Given the description of an element on the screen output the (x, y) to click on. 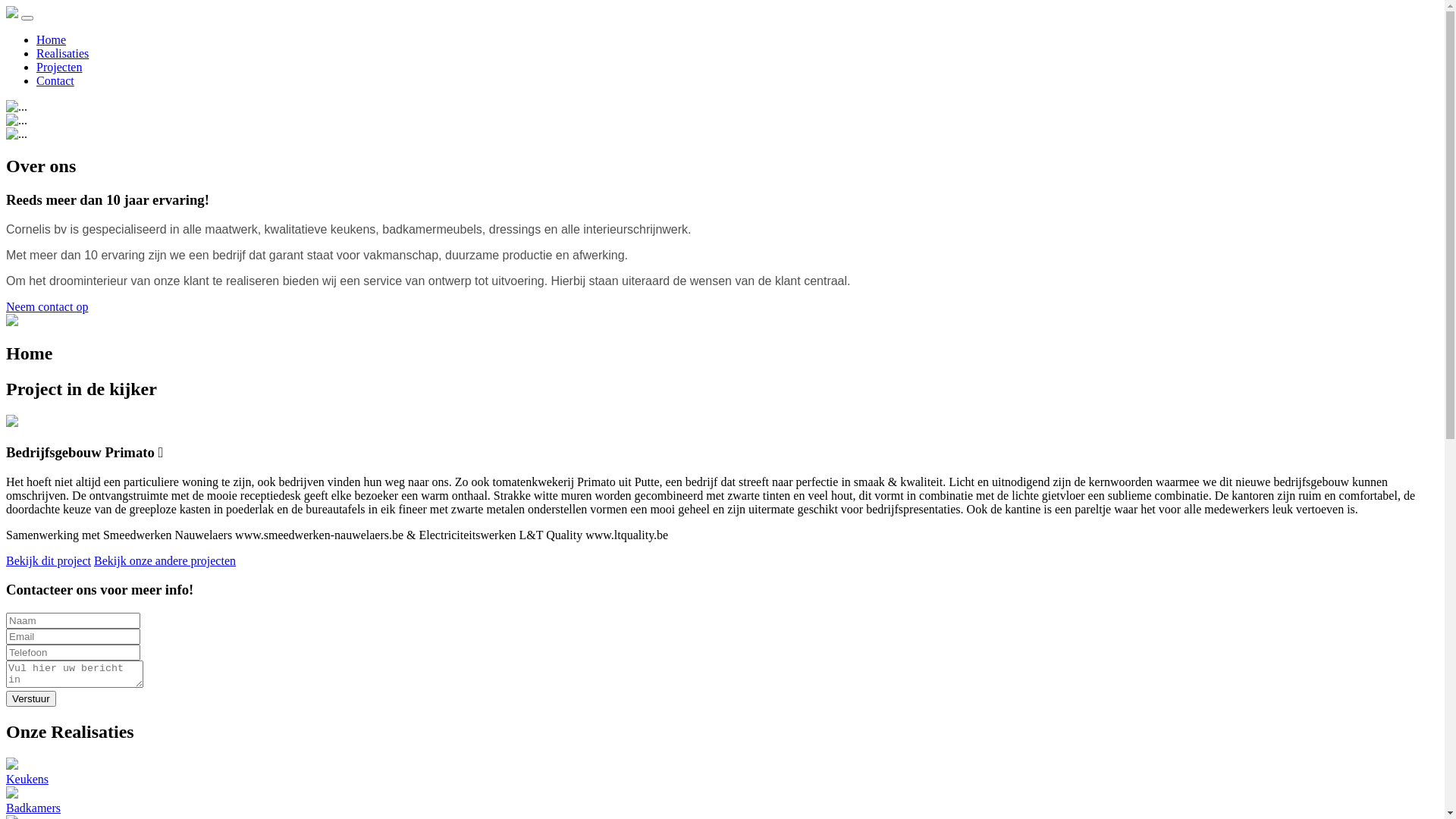
Projecten Element type: text (58, 66)
Verstuur Element type: text (31, 698)
Badkamers Element type: text (722, 800)
Keukens Element type: text (722, 771)
Neem contact op Element type: text (46, 306)
Bekijk onze andere projecten Element type: text (164, 560)
Bekijk dit project Element type: text (48, 560)
Contact Element type: text (55, 80)
Realisaties Element type: text (62, 53)
Home Element type: text (50, 39)
